Given the description of an element on the screen output the (x, y) to click on. 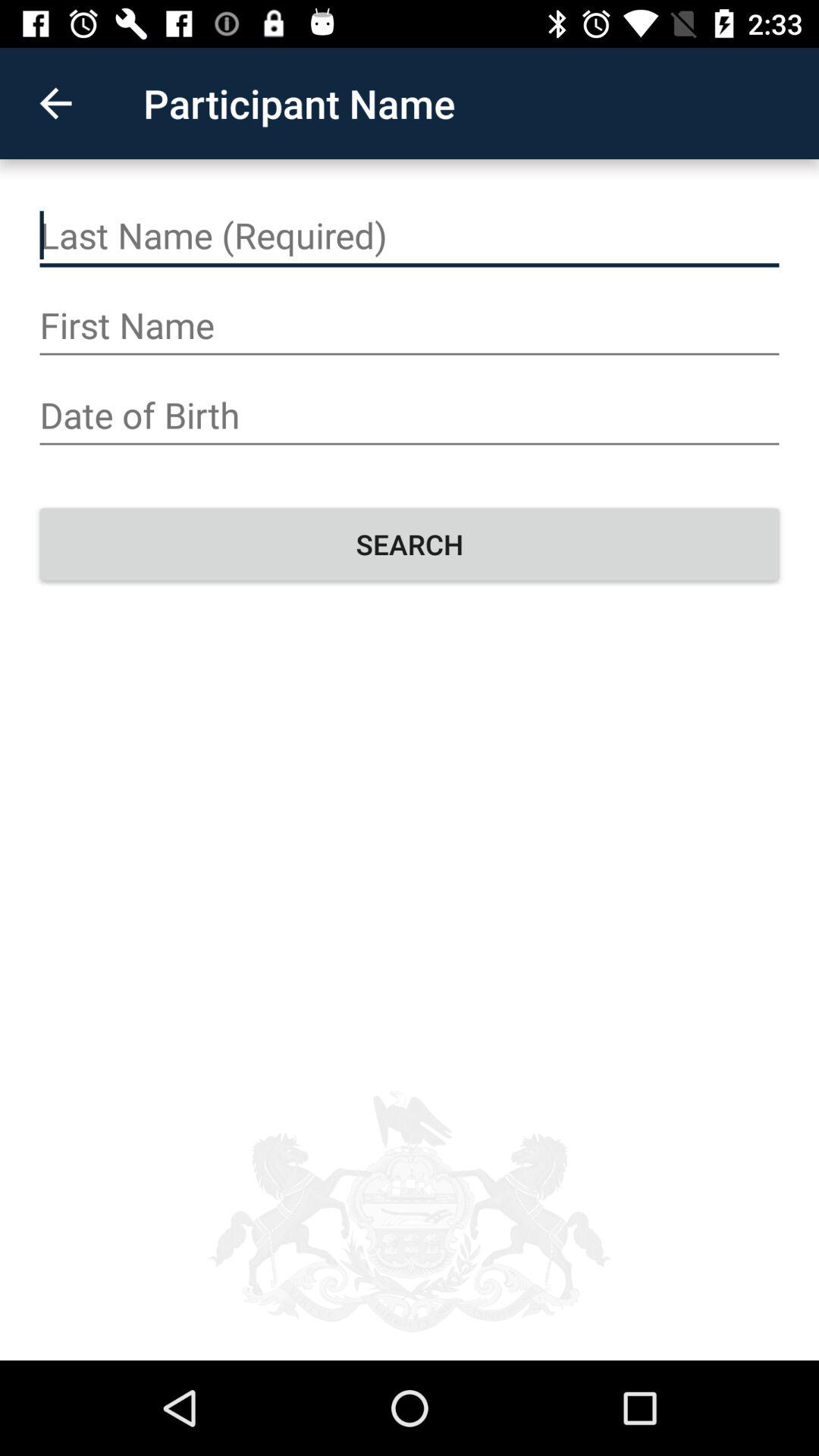
click the search icon (409, 544)
